Given the description of an element on the screen output the (x, y) to click on. 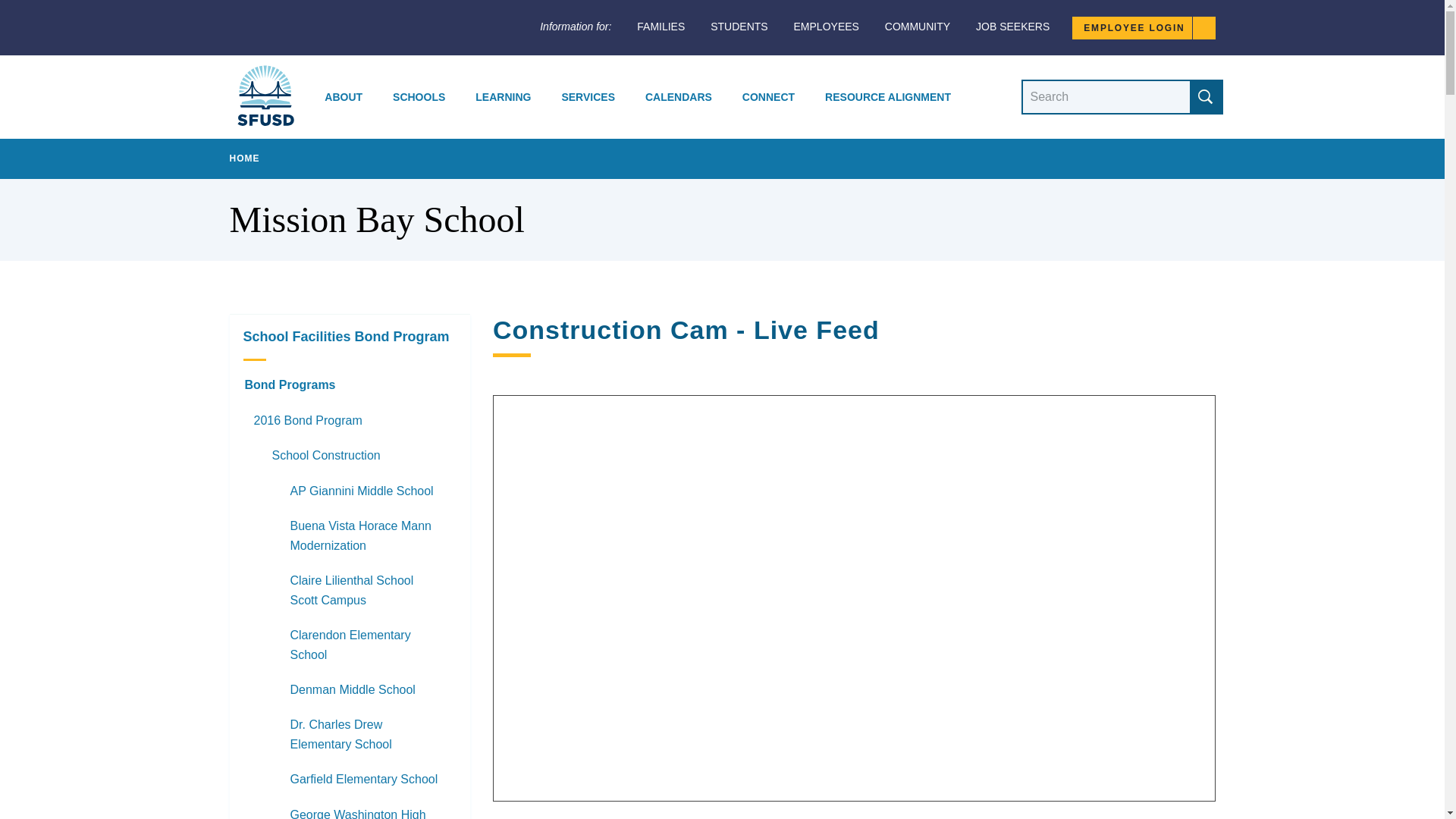
George Washington High School - Seismic Improvement Project (349, 807)
EMPLOYEES (826, 26)
Learn about our community (917, 26)
Claire Lilienthal School Scott Campus Modernization (349, 590)
Clarendon Elementary School Modernization (349, 645)
Dr. Charles Drew Elementary School Modernization (349, 734)
CALENDARS (678, 96)
SCHOOLS (418, 96)
SERVICES (588, 96)
Information about SFUSD's 2016 Bond Program (349, 419)
Search (1205, 97)
LEARNING (503, 96)
